Given the description of an element on the screen output the (x, y) to click on. 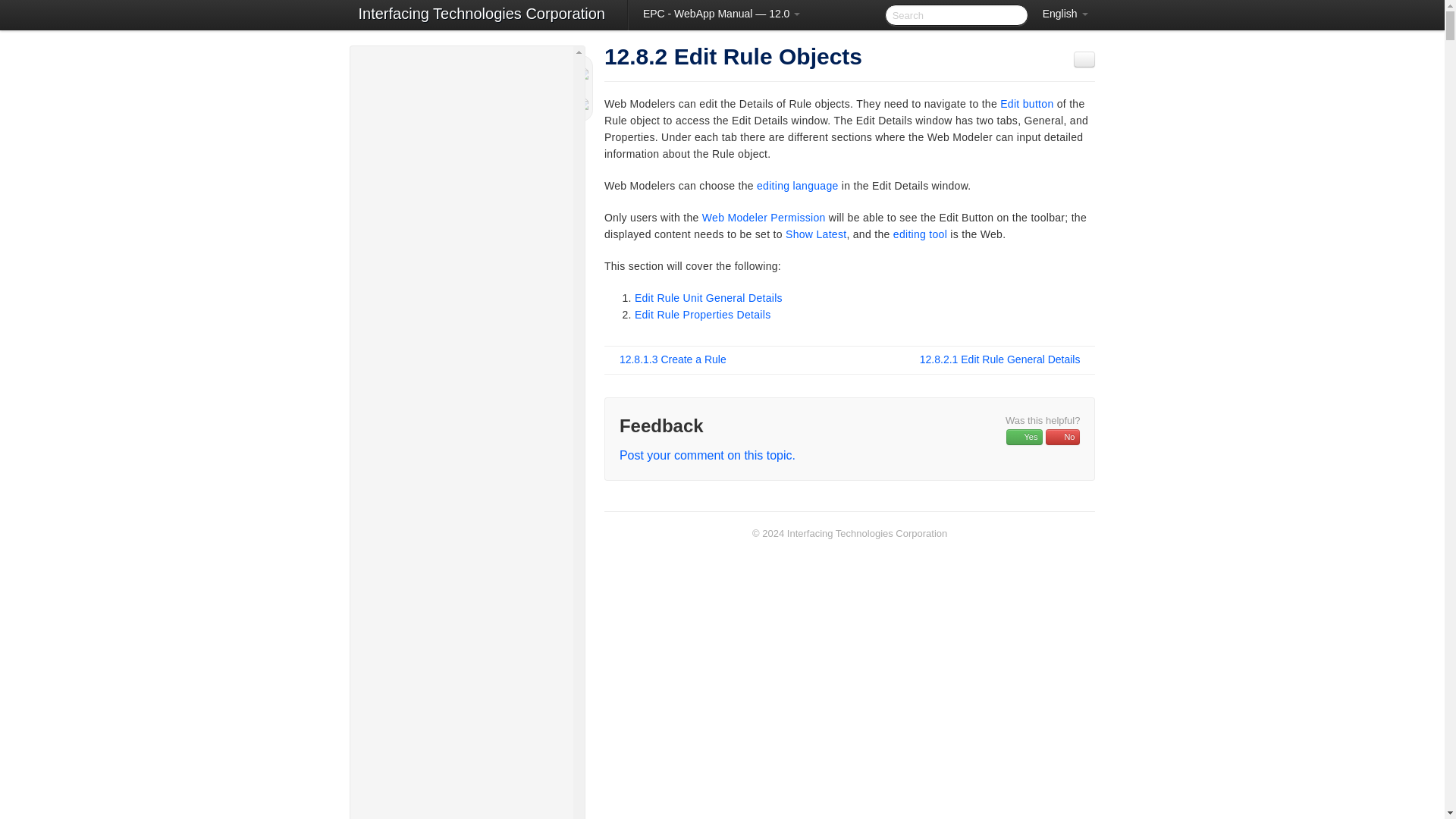
FAQs (460, 149)
1.0 Enterprise Process Center (460, 185)
English (1065, 14)
Print page (1084, 59)
Disclaimer (460, 115)
1.2 Collaborative Environment (467, 221)
Interfacing Technologies Corporation (481, 15)
Technical Support (460, 80)
1.1 Process Viewing (467, 203)
